Given the description of an element on the screen output the (x, y) to click on. 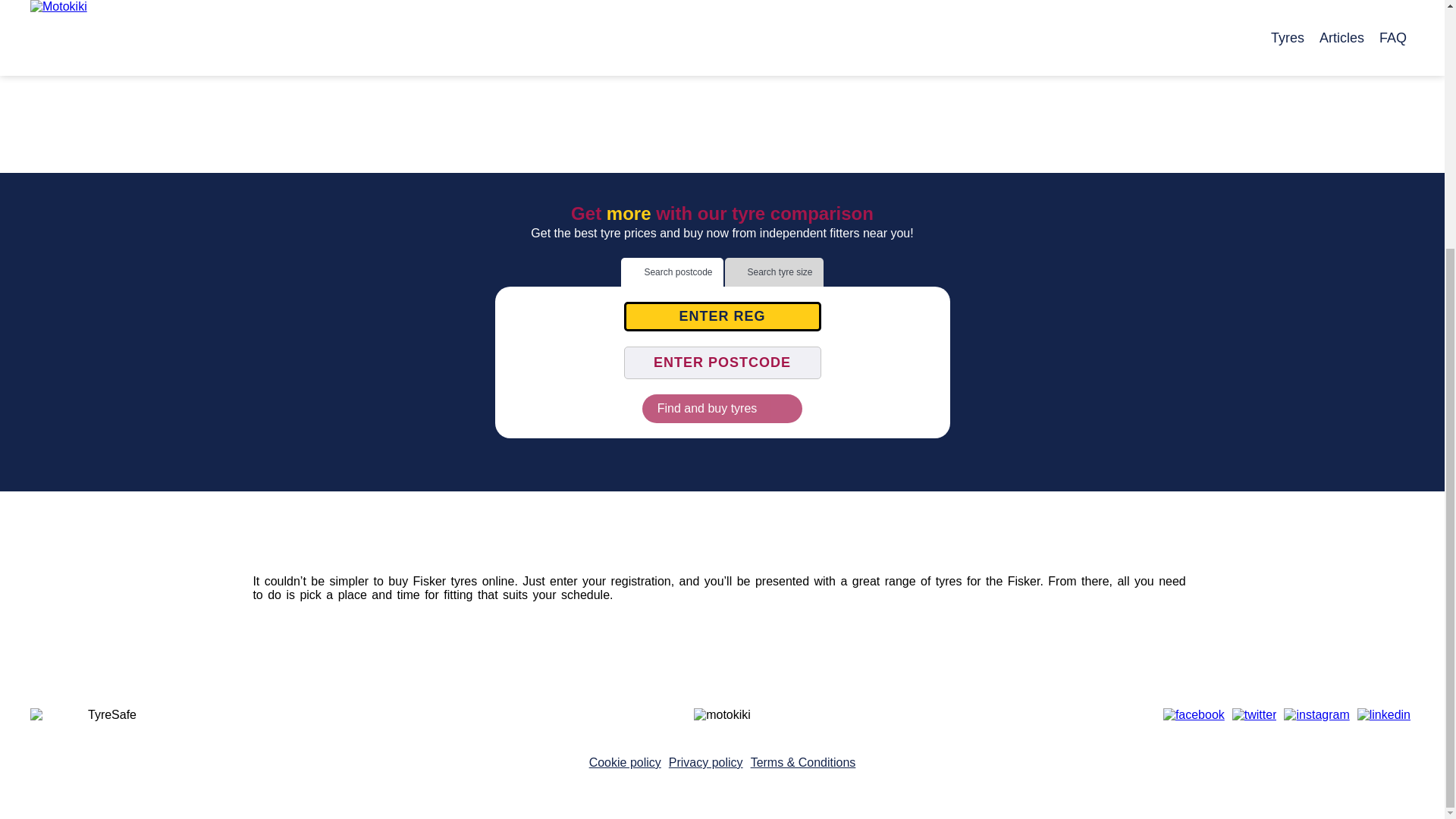
Privacy policy (705, 762)
Cookie policy (625, 762)
Find and buy tyres (722, 408)
